Given the description of an element on the screen output the (x, y) to click on. 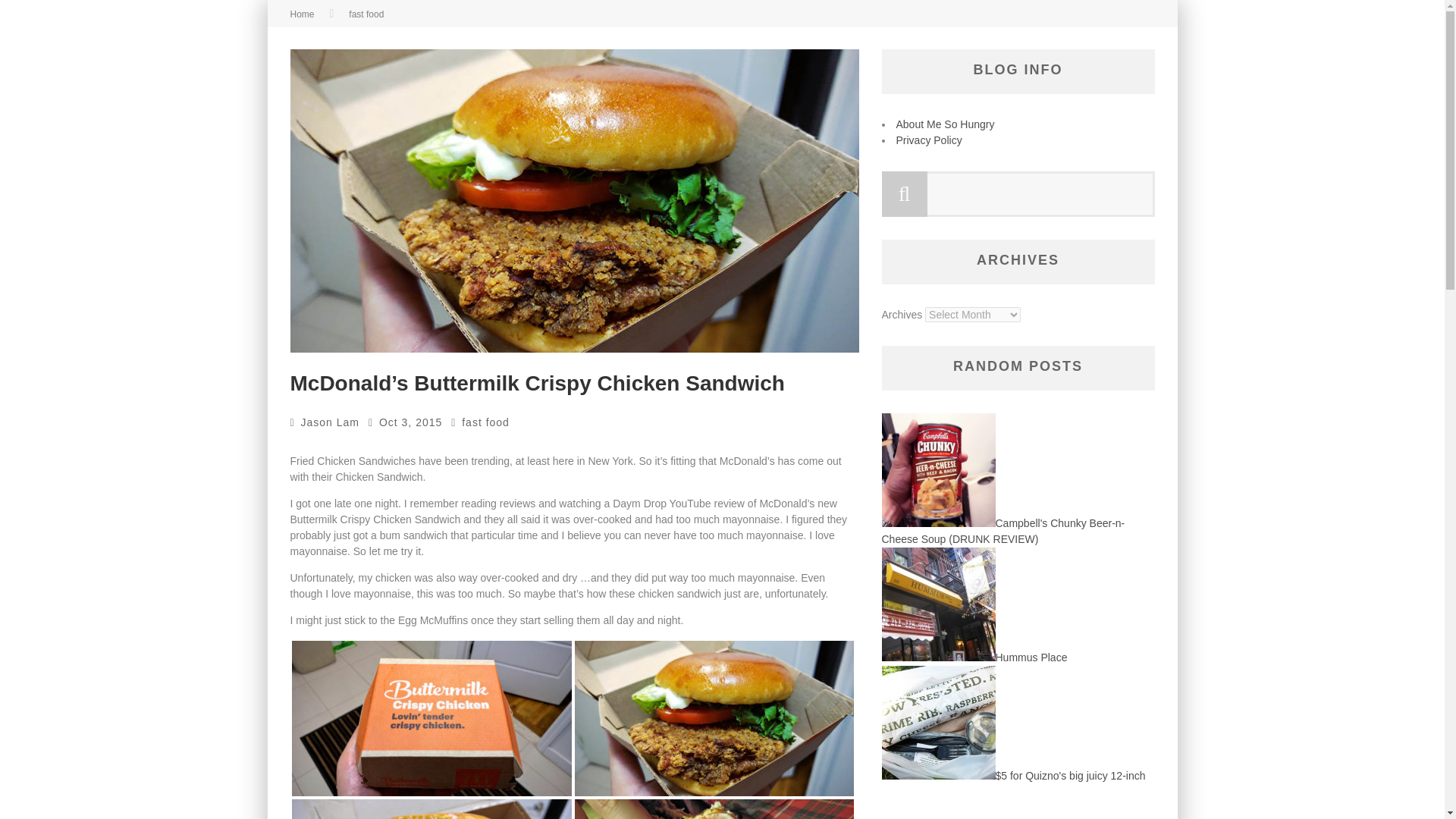
Privacy Policy (929, 140)
02 McDonald's Buttermilk Crispy Chicken Sandwich (714, 718)
04 McDonald's Buttermilk Crispy Chicken Sandwich (714, 809)
fast food (366, 14)
fast food (485, 422)
01 McDonald's Buttermilk Crispy Chicken Sandwich (430, 718)
About Me So Hungry (945, 123)
View all posts in fast food (366, 14)
Home (301, 14)
Hummus Place (973, 657)
